Given the description of an element on the screen output the (x, y) to click on. 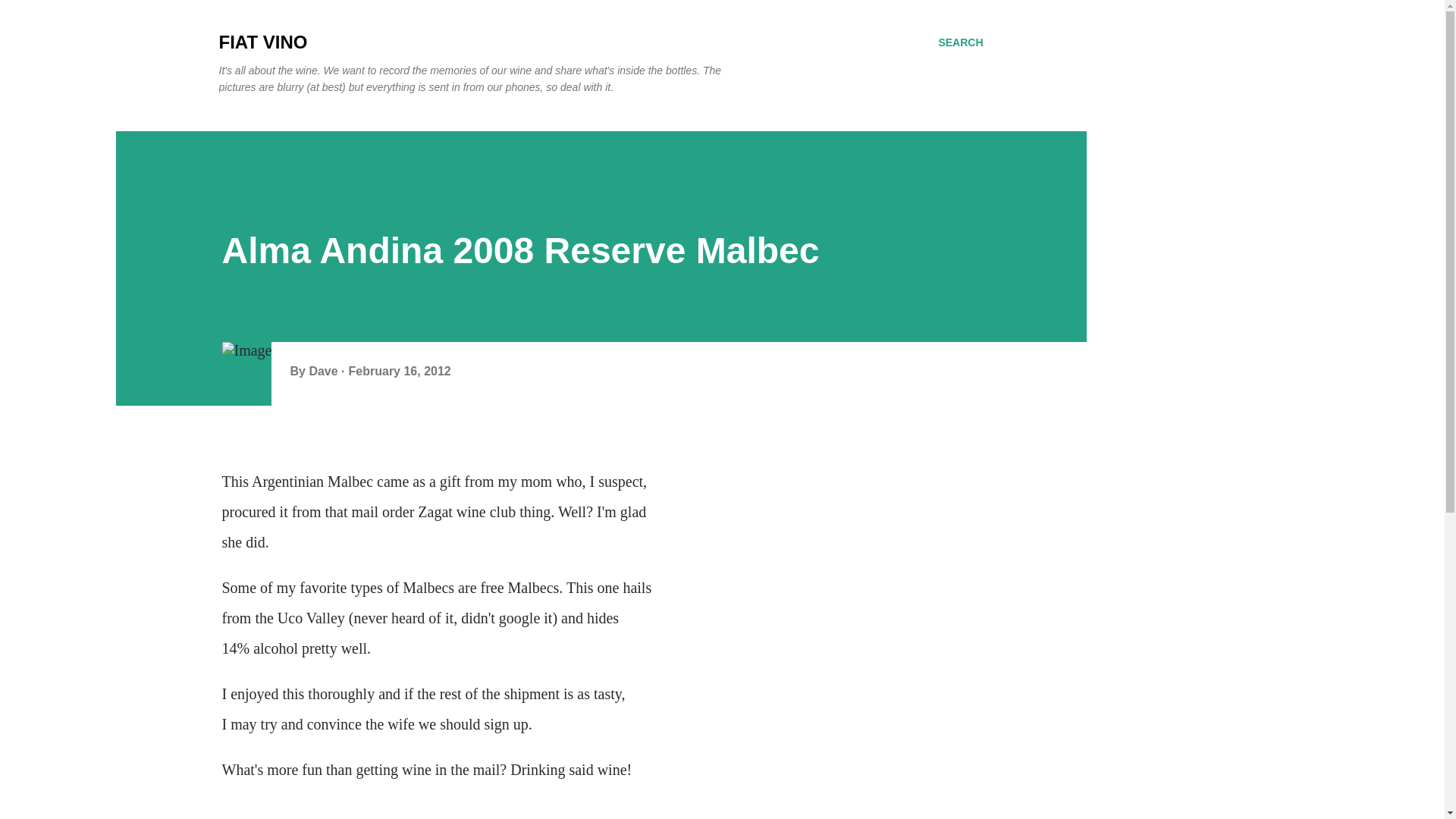
Dave (324, 370)
SEARCH (959, 42)
permanent link (400, 370)
FIAT VINO (262, 41)
author profile (324, 370)
February 16, 2012 (400, 370)
